Given the description of an element on the screen output the (x, y) to click on. 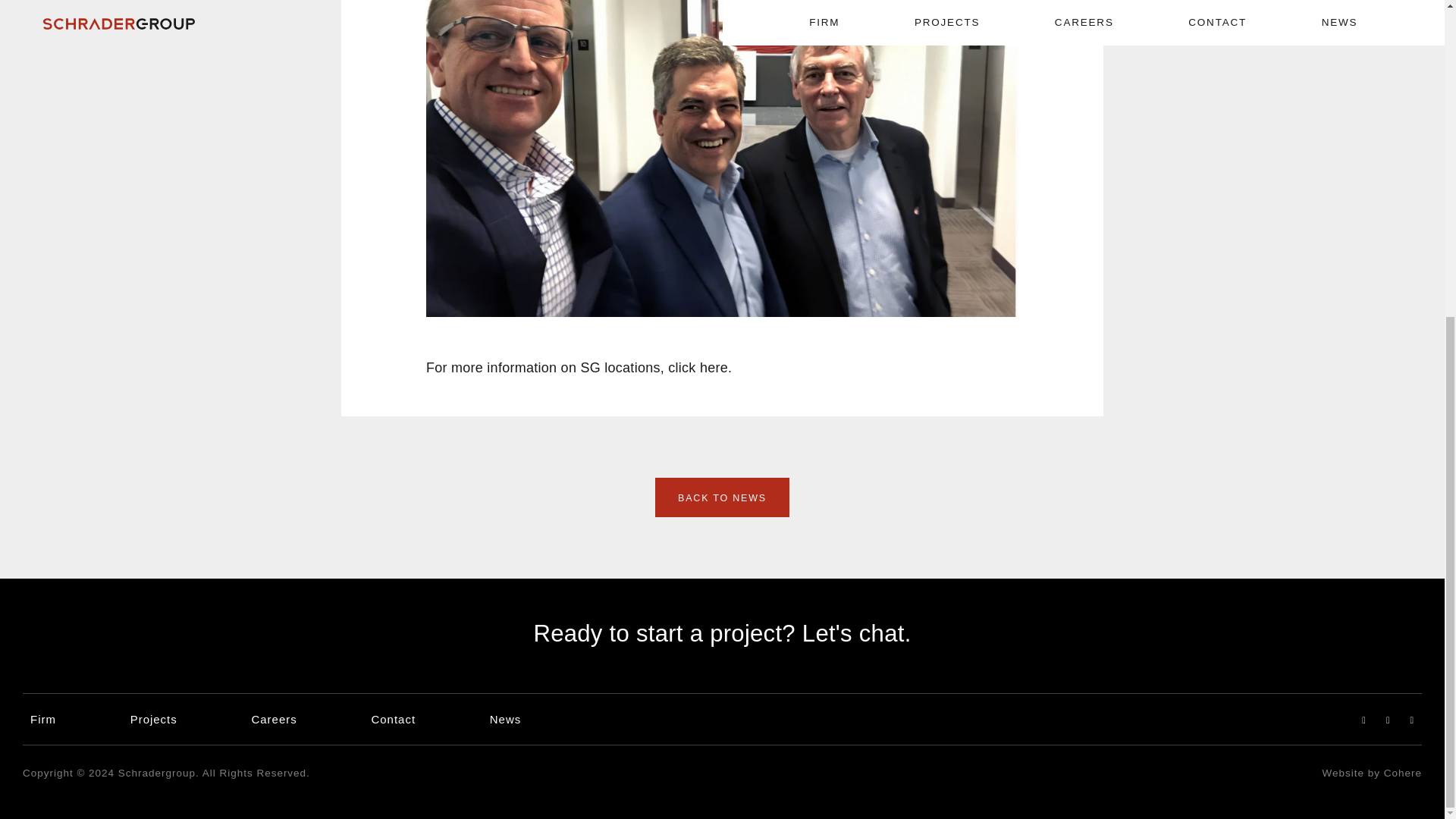
Careers (273, 718)
BACK TO NEWS (722, 496)
here (714, 367)
News (505, 718)
Firm (43, 718)
Projects (154, 718)
Let's chat (853, 633)
Contact (392, 718)
Cohere (1403, 772)
